Given the description of an element on the screen output the (x, y) to click on. 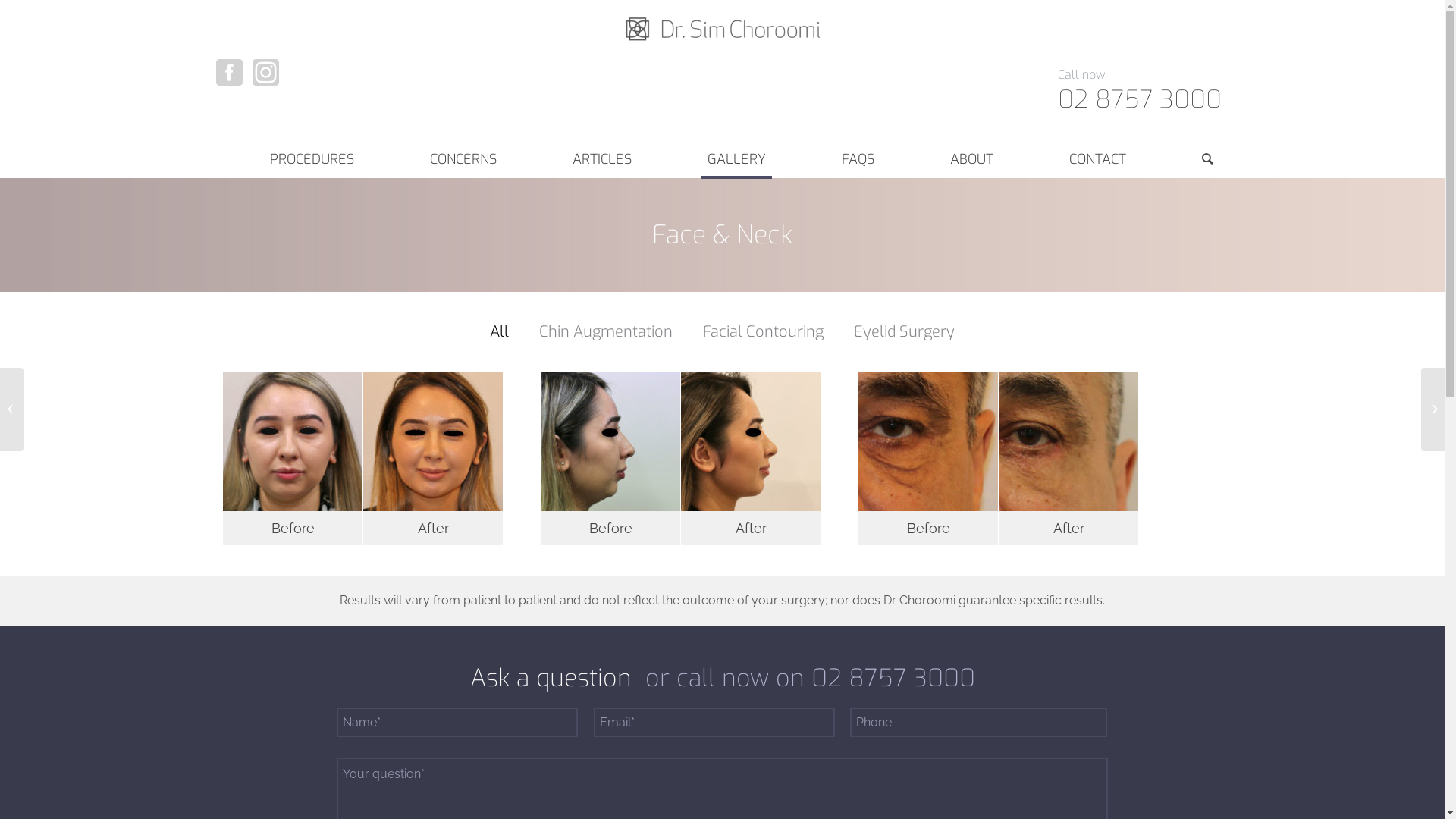
Facebook Element type: hover (229, 72)
PROCEDURES Element type: text (312, 159)
Before Element type: text (610, 458)
ABOUT Element type: text (971, 159)
ARTICLES Element type: text (601, 159)
02 8757 3000 Element type: text (1139, 98)
CONCERNS Element type: text (463, 159)
Face & Neck Element type: text (722, 234)
After Element type: text (750, 458)
Chin Augmentation Element type: text (605, 331)
FAQS Element type: text (857, 159)
CONTACT Element type: text (1097, 159)
02 8757 3000 Element type: text (893, 677)
After Element type: text (1068, 458)
After Element type: text (432, 458)
Eyelid Surgery Element type: text (904, 331)
Instagram Element type: hover (265, 72)
Facial Contouring Element type: text (762, 331)
Before Element type: text (292, 458)
All Element type: text (499, 331)
GALLERY Element type: text (736, 159)
Before Element type: text (927, 458)
